Given the description of an element on the screen output the (x, y) to click on. 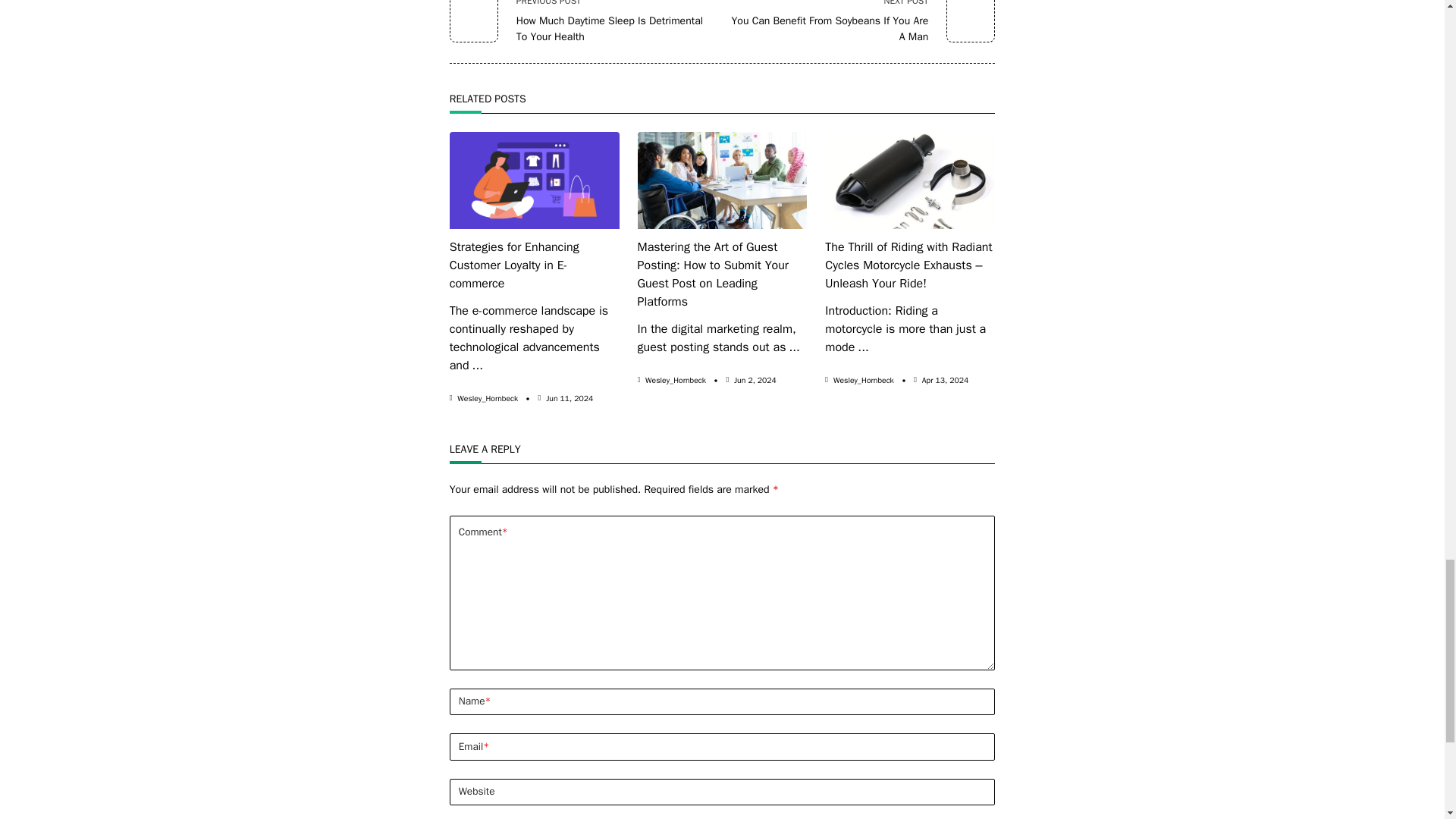
... (477, 365)
Strategies for Enhancing Customer Loyalty in E-commerce (858, 22)
